Given the description of an element on the screen output the (x, y) to click on. 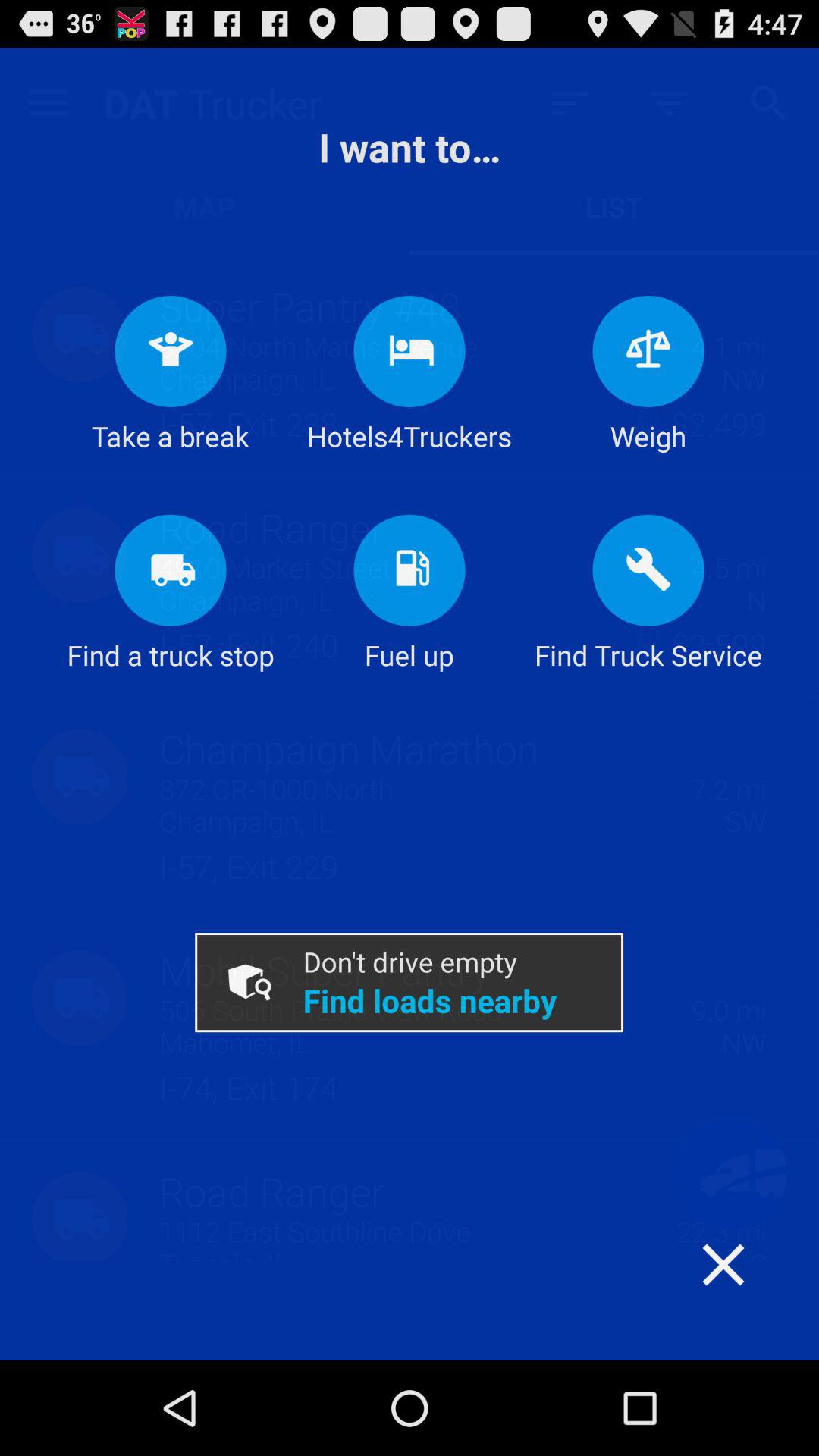
select the item below the find truck service item (753, 1294)
